Given the description of an element on the screen output the (x, y) to click on. 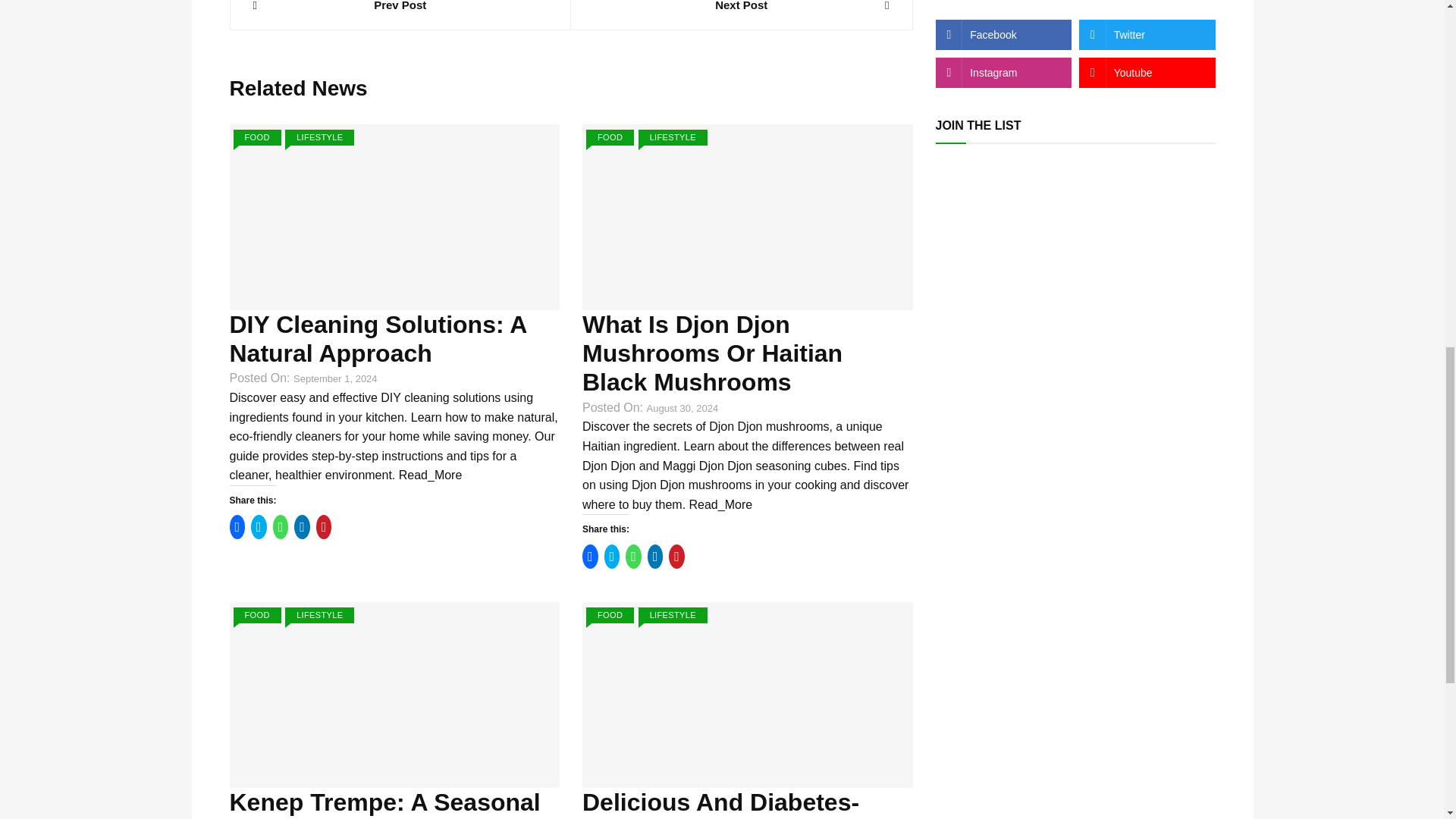
What Is Djon Djon Mushrooms Or Haitian Black Mushrooms (712, 353)
September 1, 2024 (335, 379)
FOOD (256, 137)
LIFESTYLE (673, 137)
Next Post (741, 7)
August 30, 2024 (681, 408)
LIFESTYLE (319, 137)
Prev Post (400, 7)
DIY Cleaning Solutions: A Natural Approach (376, 338)
FOOD (609, 137)
